Given the description of an element on the screen output the (x, y) to click on. 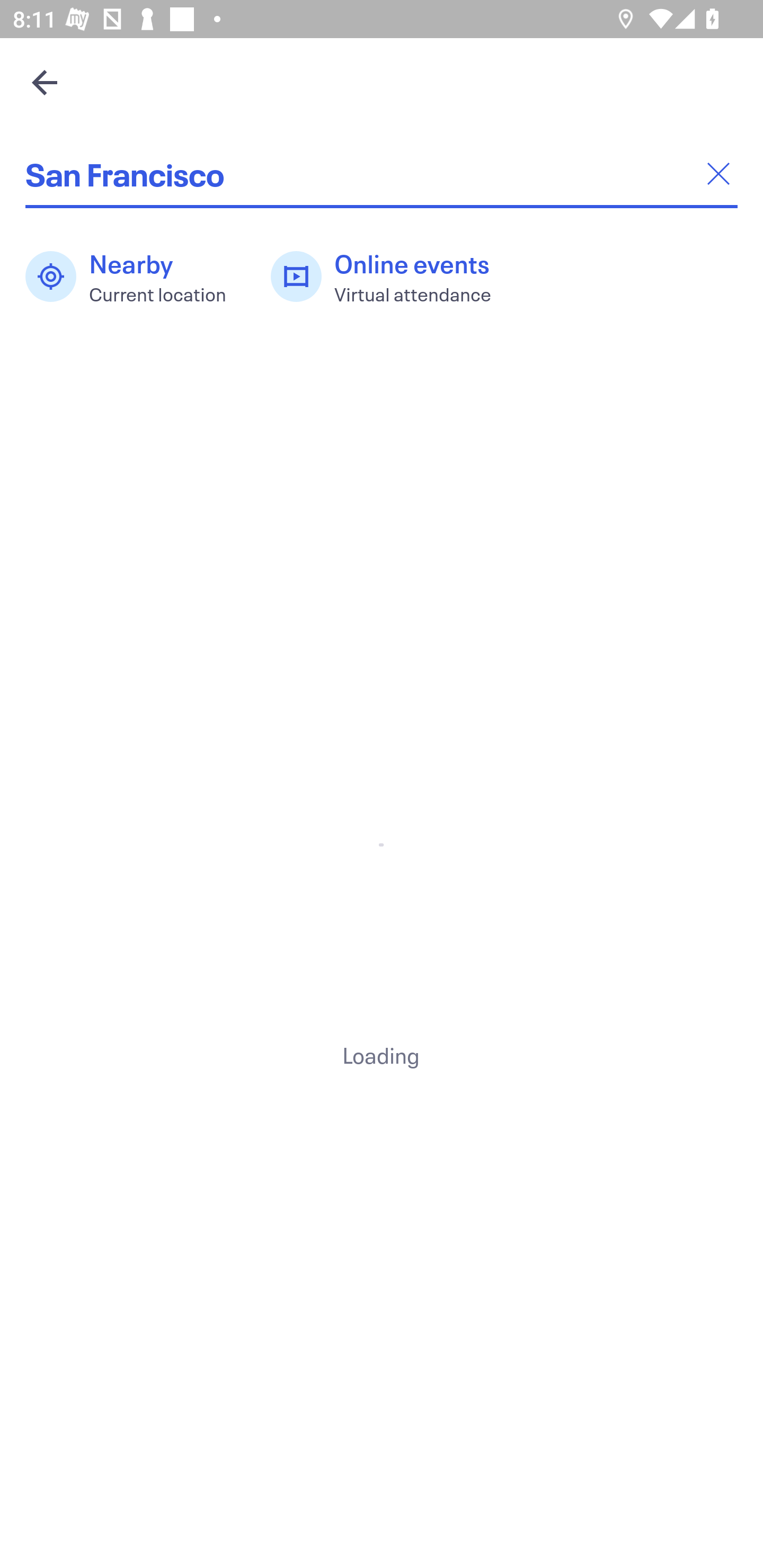
Navigate up (44, 82)
San Francisco (381, 173)
Nearby Current location (135, 276)
Online events Virtual attendance (390, 276)
